Given the description of an element on the screen output the (x, y) to click on. 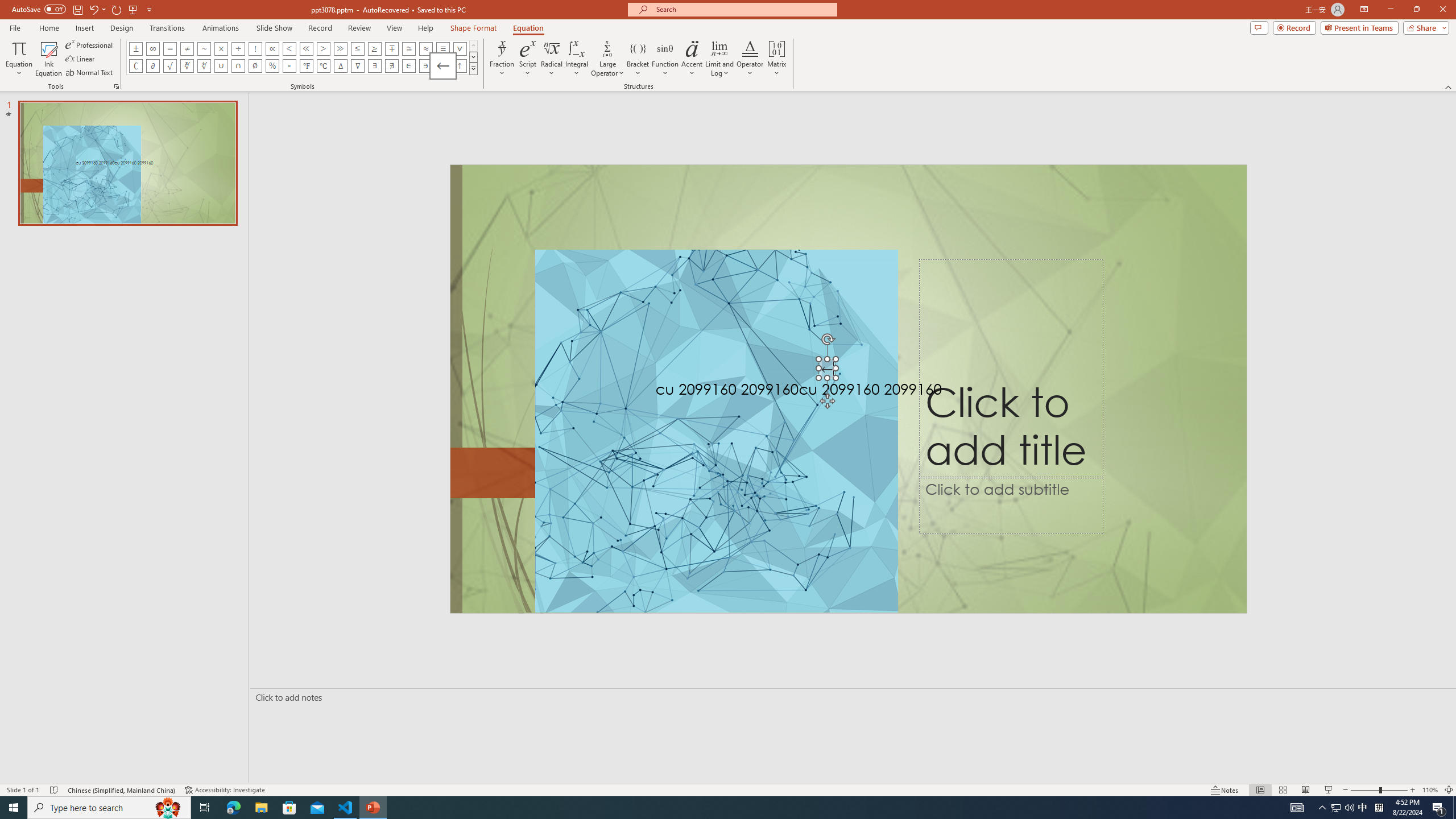
AutomationID: EquationSymbolsInsertGallery (302, 57)
Limit and Log (719, 58)
Equation Symbol Factorial (255, 48)
Equation Symbol Division Sign (238, 48)
Equation Symbol Minus Plus (391, 48)
Equation Symbol Infinity (152, 48)
Equation Symbol Much Less Than (306, 48)
Equation Symbol Much Greater Than (340, 48)
Equation Symbol Less Than or Equal To (357, 48)
Equation Symbol Complement (136, 65)
